Given the description of an element on the screen output the (x, y) to click on. 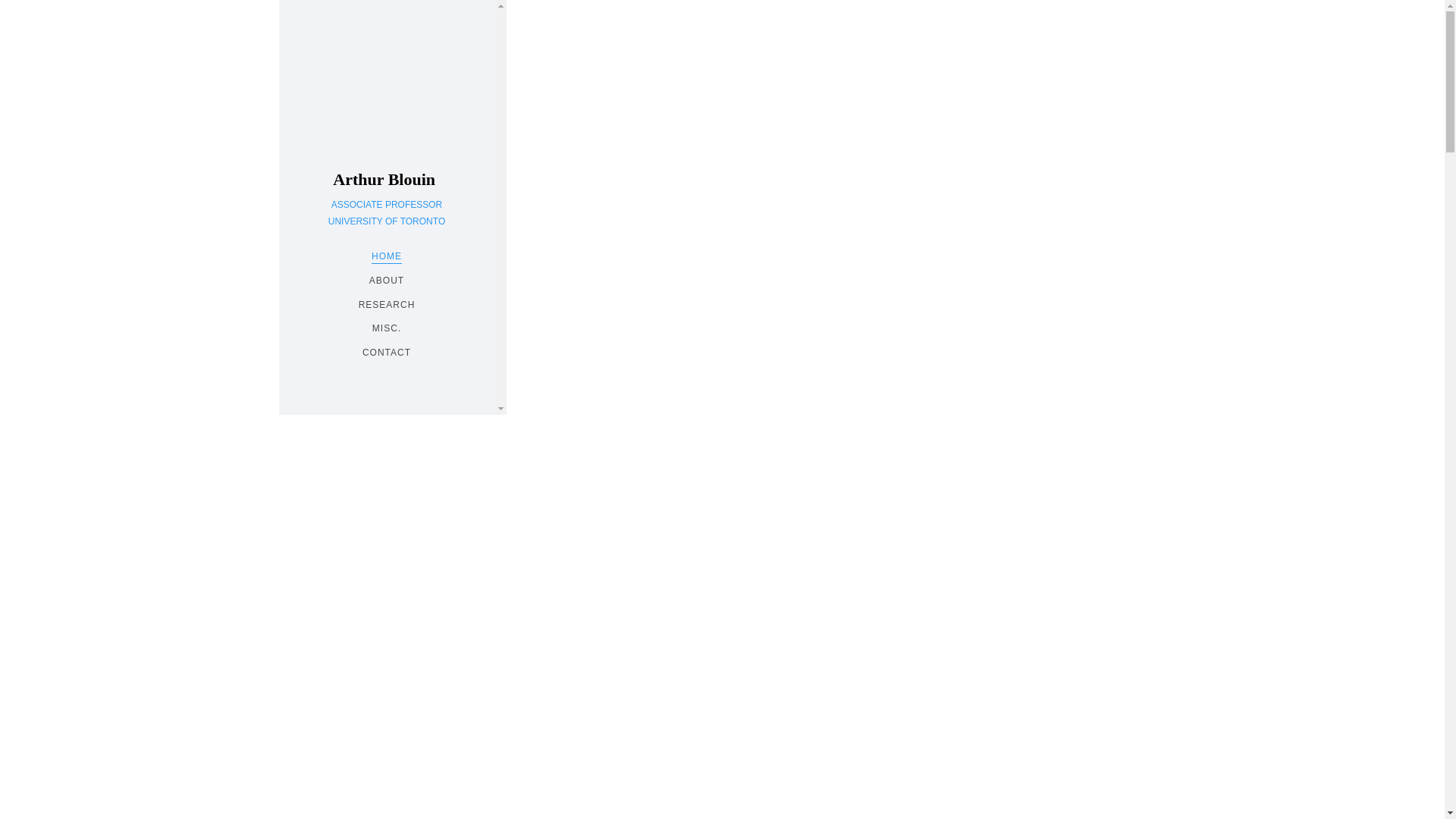
MISC. (386, 328)
ABOUT (386, 280)
HOME (386, 256)
RESEARCH (386, 304)
CONTACT (386, 352)
Arthur Blouin (387, 179)
